Given the description of an element on the screen output the (x, y) to click on. 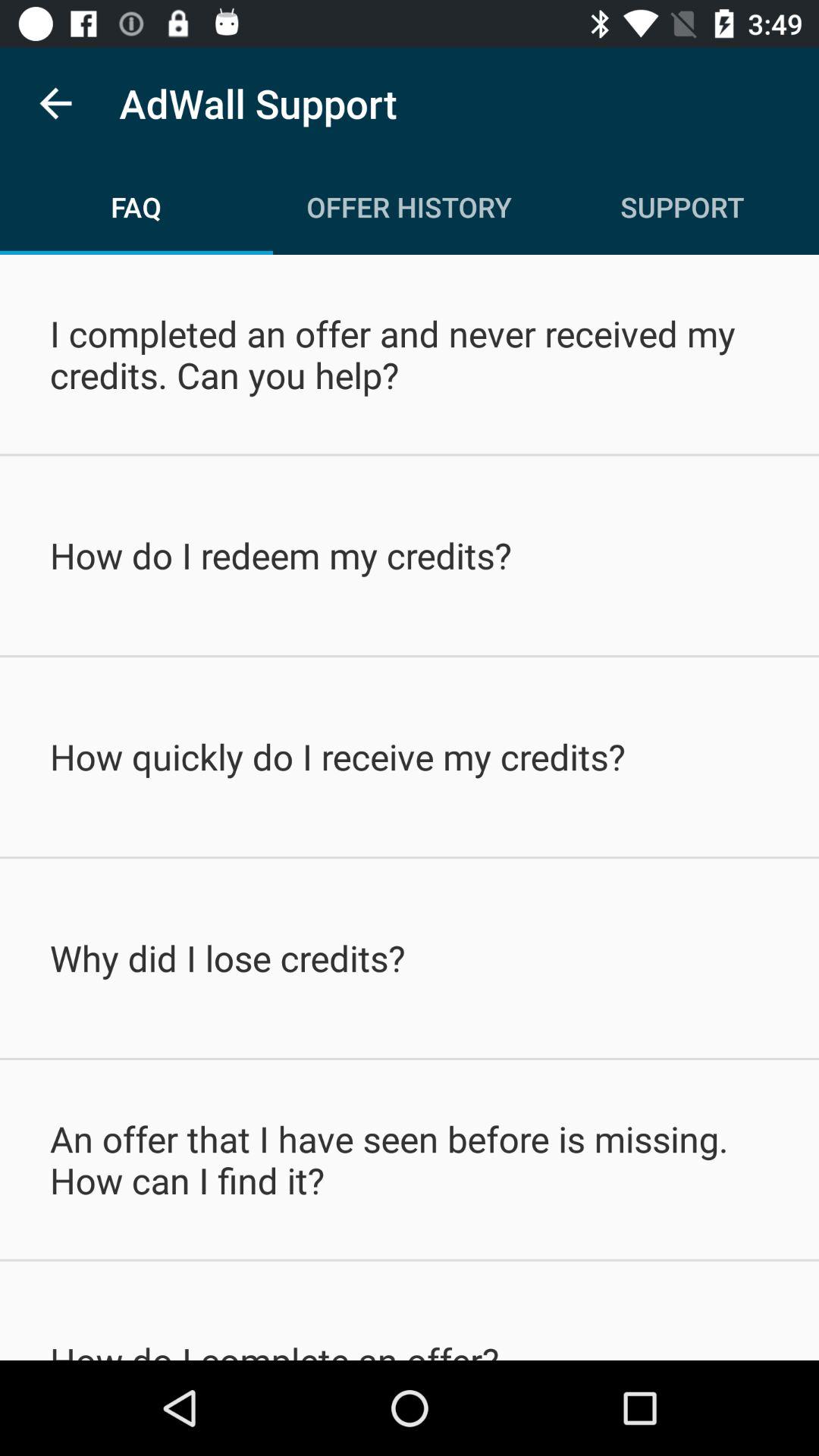
tap the item to the left of adwall support (55, 103)
